Given the description of an element on the screen output the (x, y) to click on. 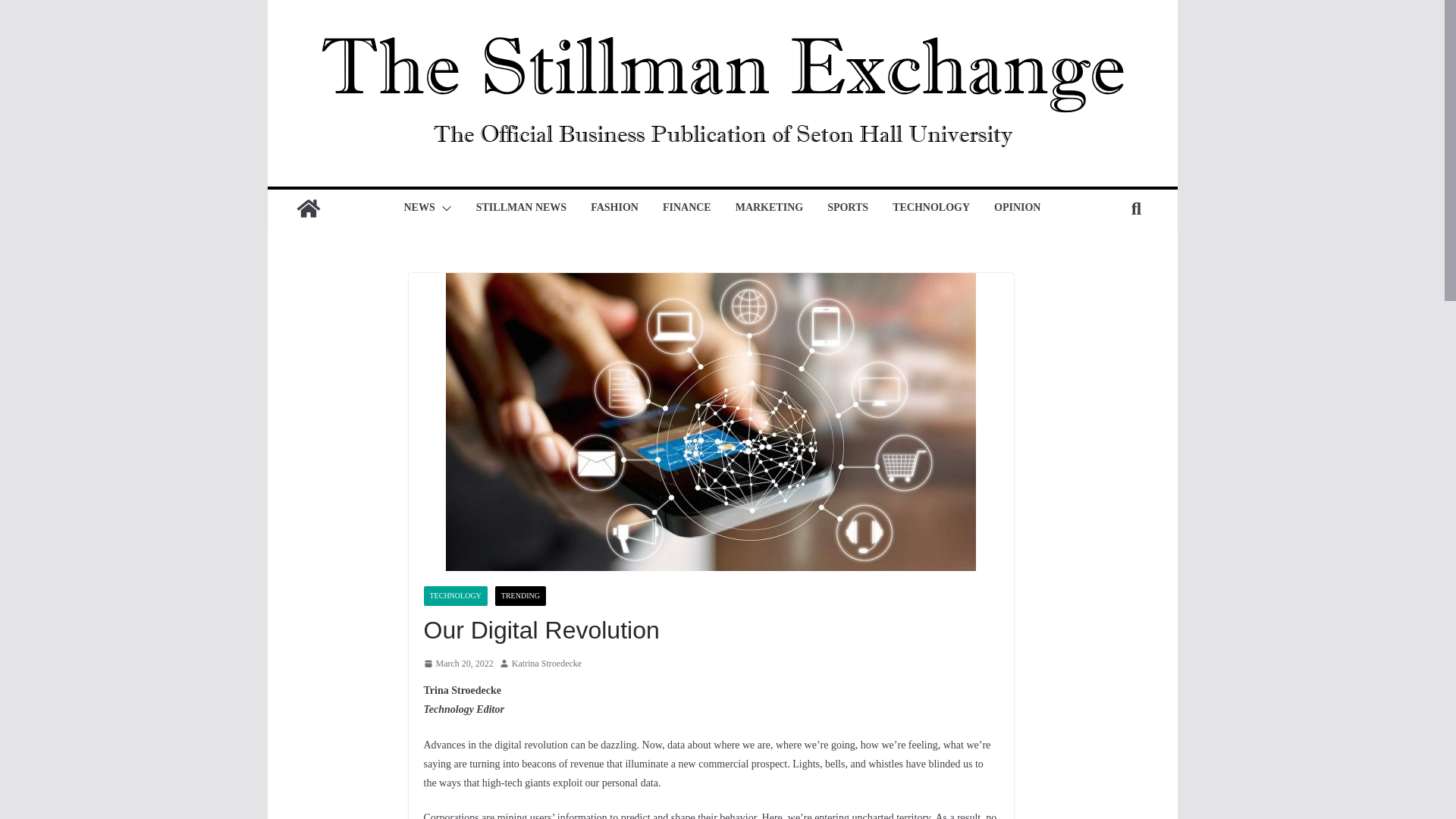
NEWS (418, 208)
MARKETING (769, 208)
STILLMAN NEWS (521, 208)
FINANCE (686, 208)
TRENDING (520, 596)
March 20, 2022 (458, 664)
7:47 pm (458, 664)
SPORTS (847, 208)
OPINION (1017, 208)
The Stillman Exchange (307, 208)
